Given the description of an element on the screen output the (x, y) to click on. 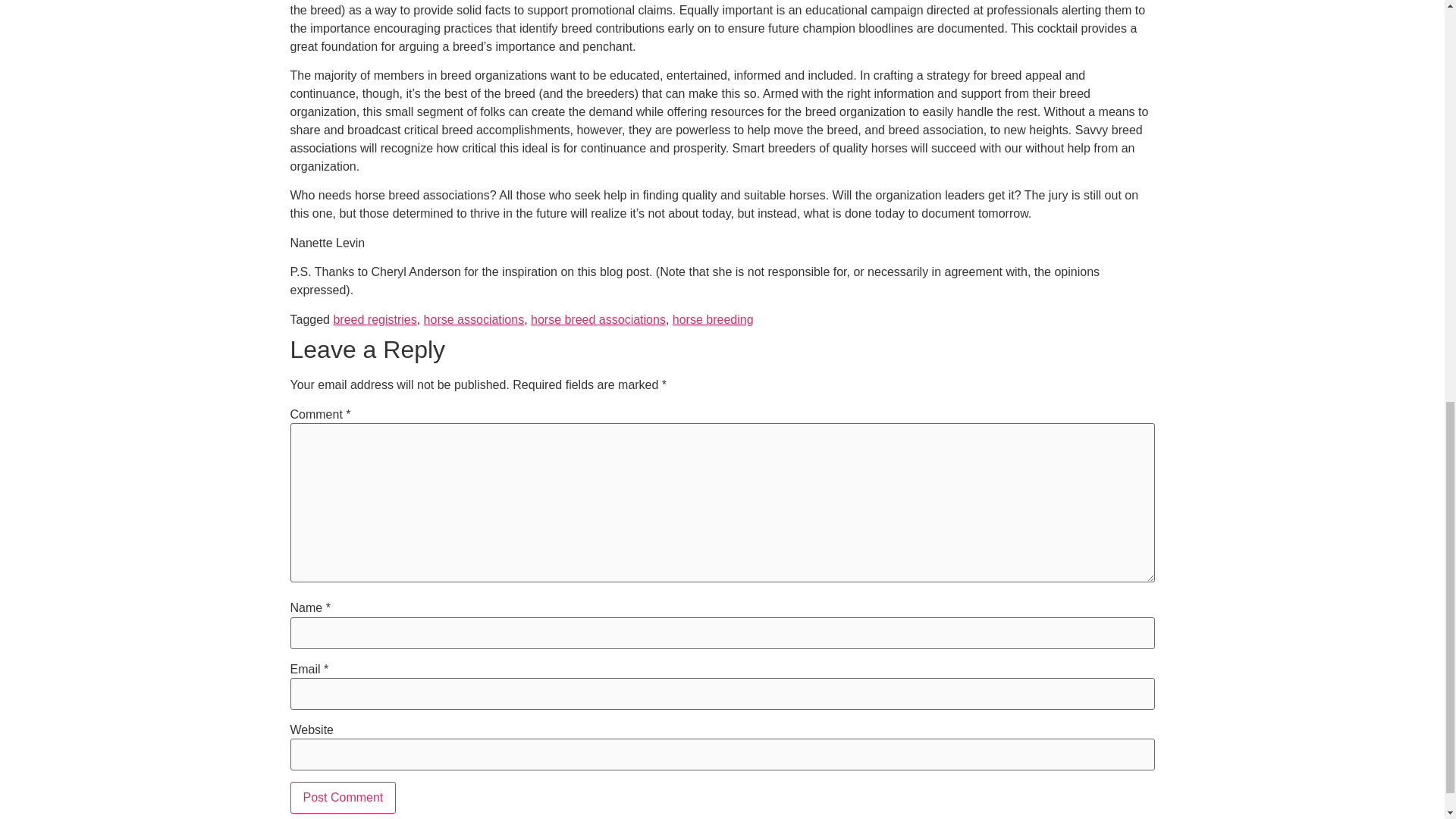
breed registries (374, 318)
Post Comment (342, 798)
horse breeding (713, 318)
horse associations (473, 318)
horse breed associations (598, 318)
Post Comment (342, 798)
